Given the description of an element on the screen output the (x, y) to click on. 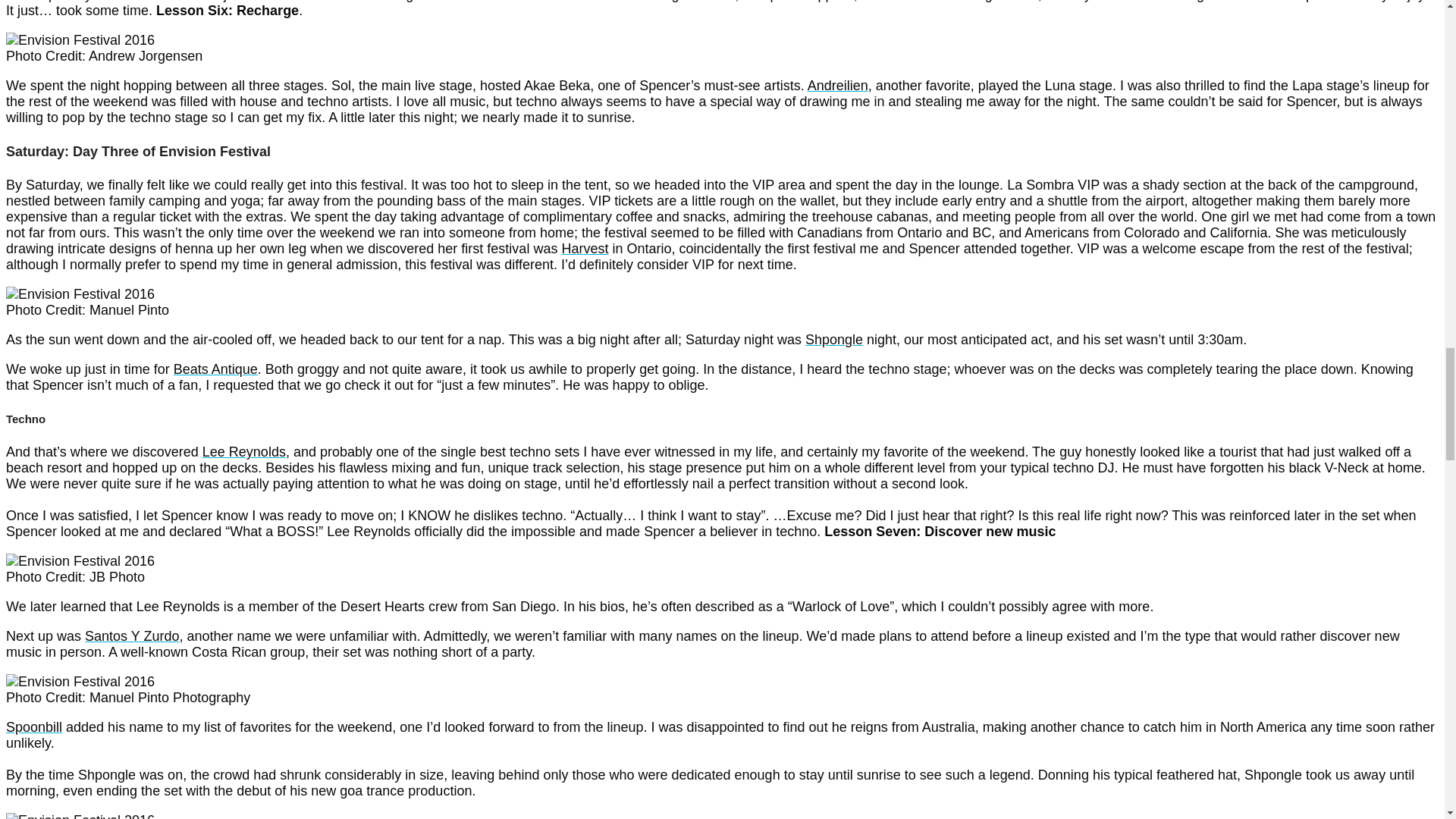
Beats Antique (215, 368)
Harvest (584, 248)
Spoonbill (33, 726)
Santos Y Zurdo (131, 635)
Andreilien (837, 85)
Lee Reynolds (243, 451)
Shpongle (834, 339)
